Given the description of an element on the screen output the (x, y) to click on. 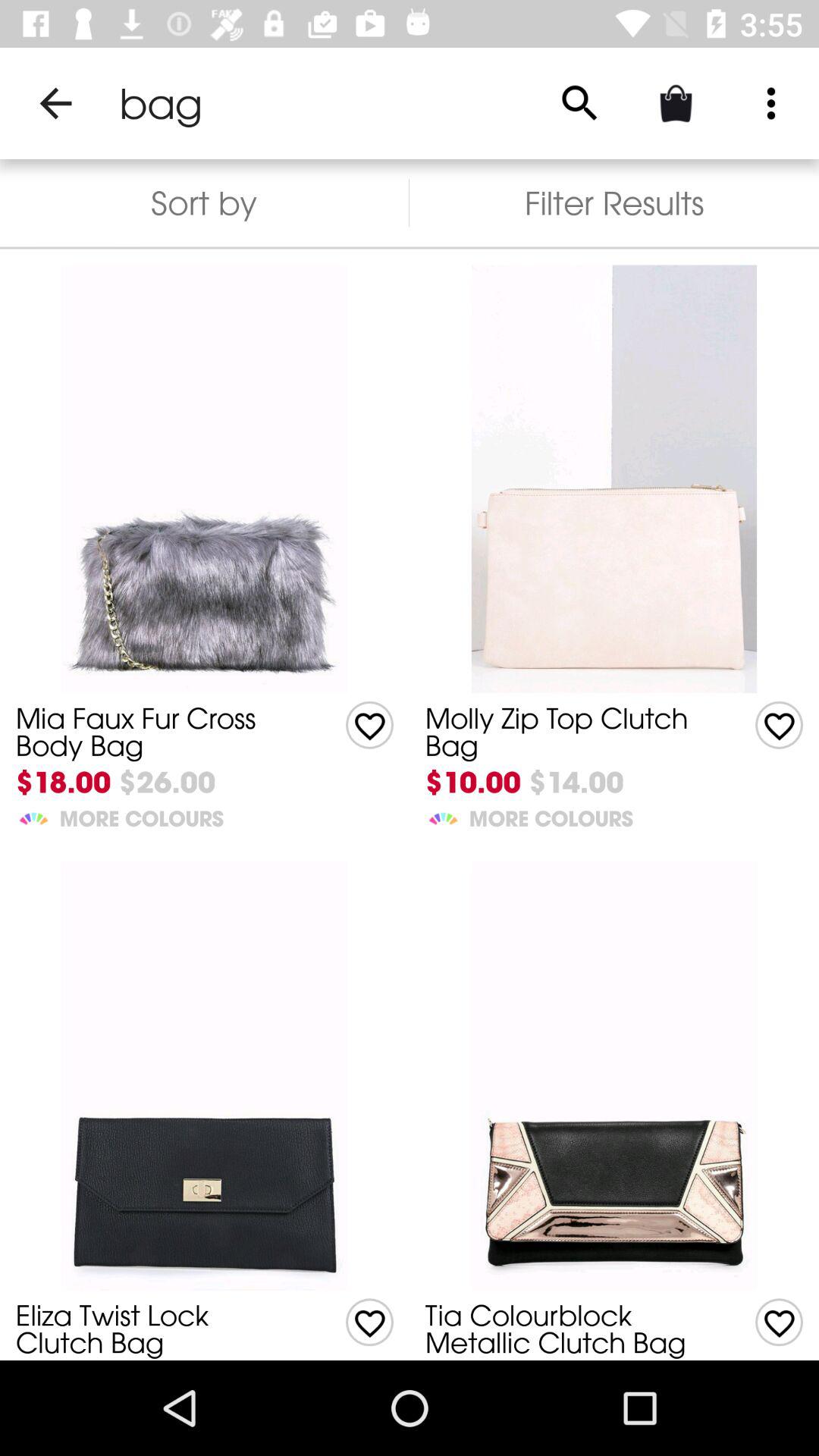
turn off icon above sort by item (55, 103)
